Given the description of an element on the screen output the (x, y) to click on. 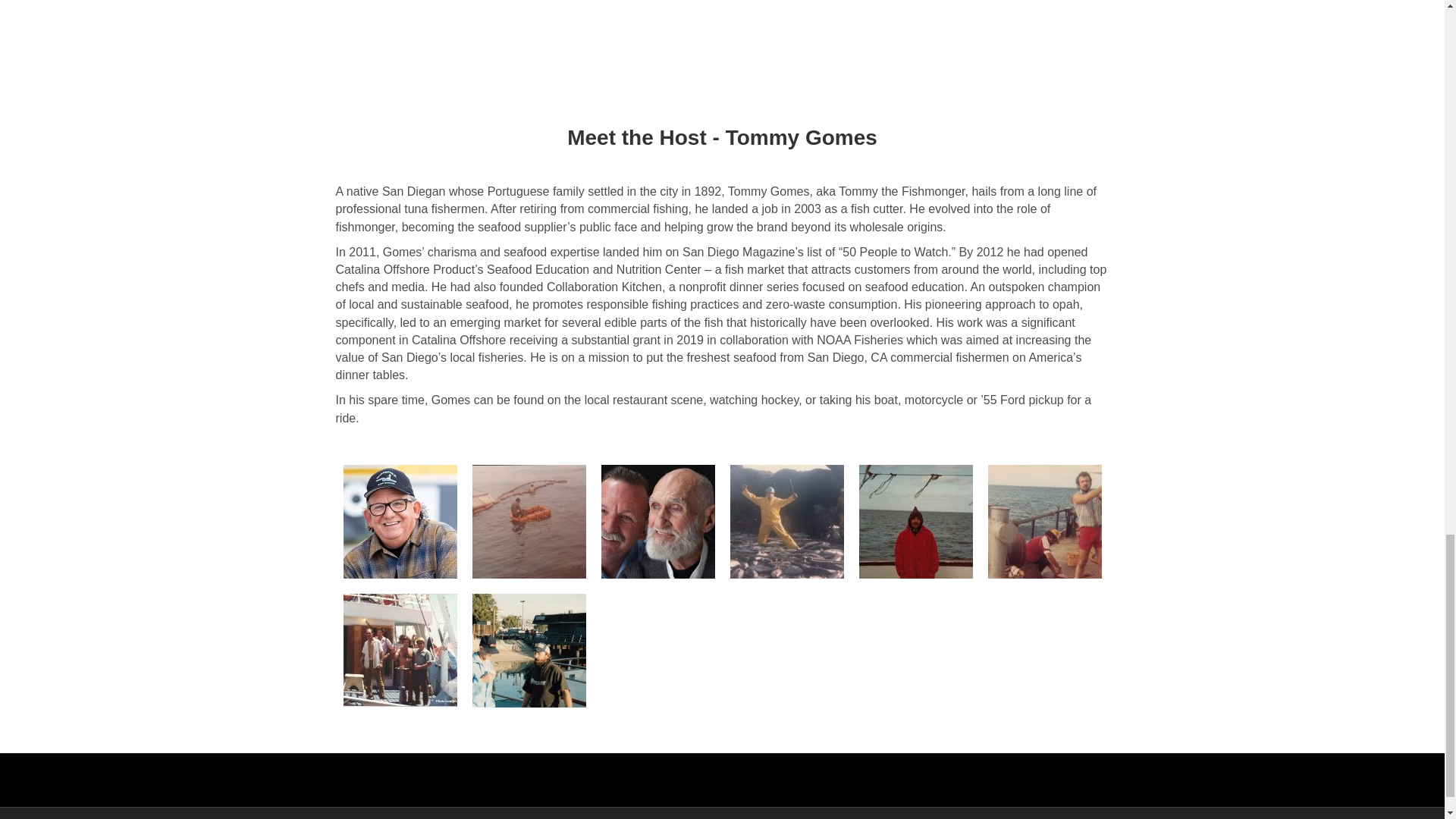
tommy gomes host of The Fishmonger (399, 521)
ddad5 (656, 521)
